Given the description of an element on the screen output the (x, y) to click on. 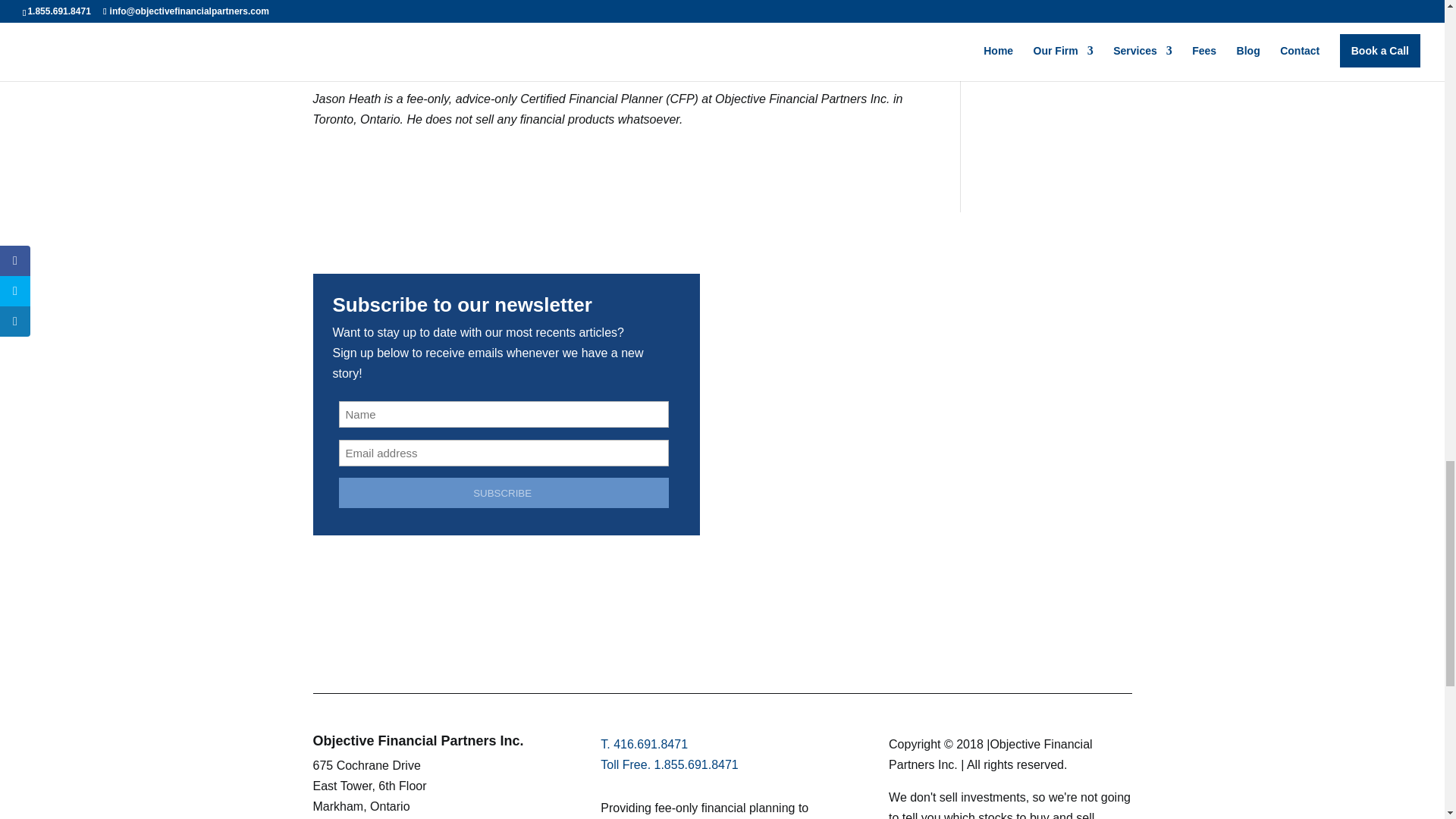
SUBSCRIBE (502, 492)
